Given the description of an element on the screen output the (x, y) to click on. 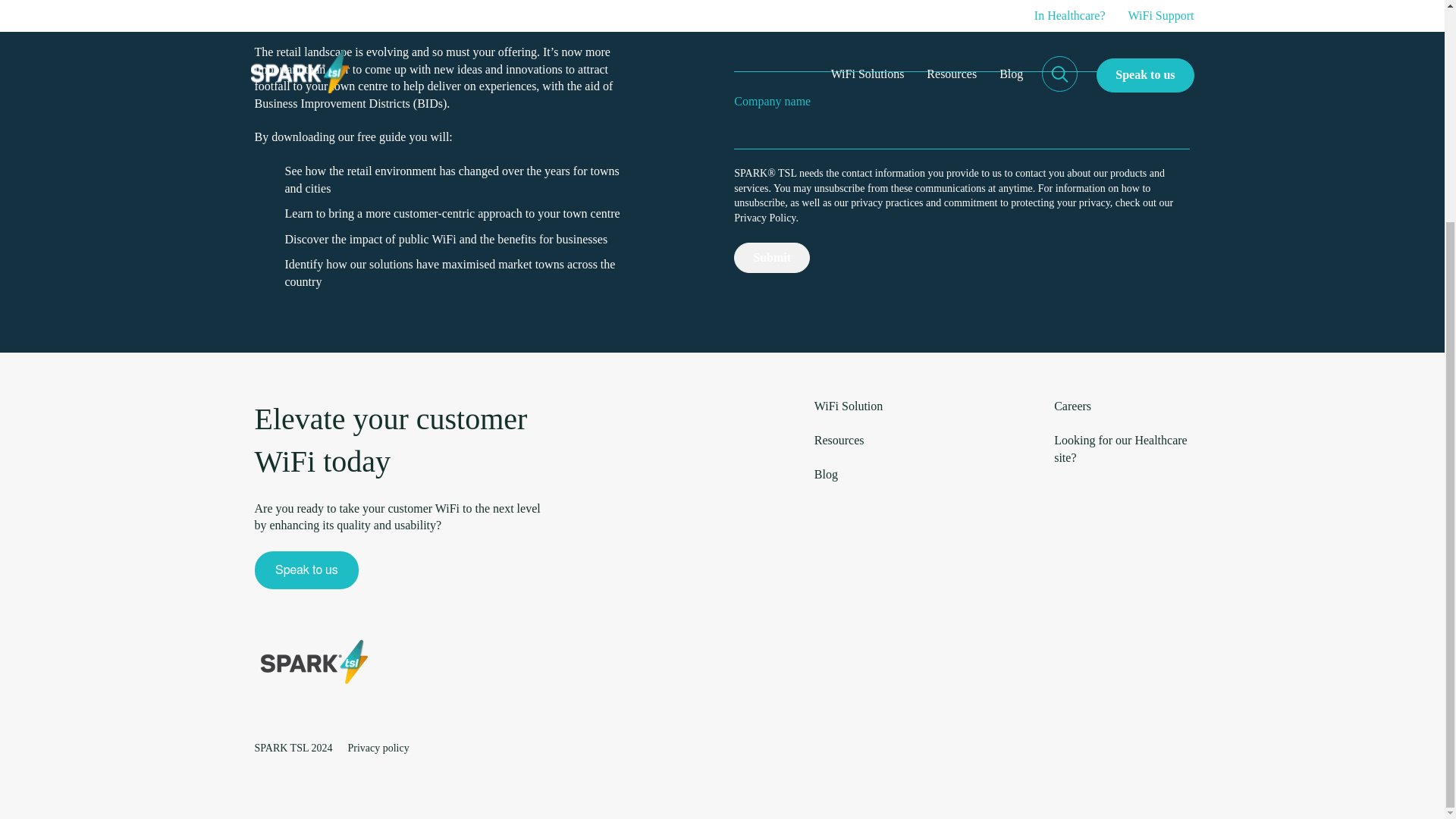
Careers (1072, 405)
WiFi Solution (847, 405)
Privacy policy (378, 747)
Submit (771, 257)
SPARK TSL Logo Online 500px-1 (313, 661)
Submit (771, 257)
Resources (838, 440)
Blog (825, 473)
Looking for our Healthcare site? (1120, 448)
